Given the description of an element on the screen output the (x, y) to click on. 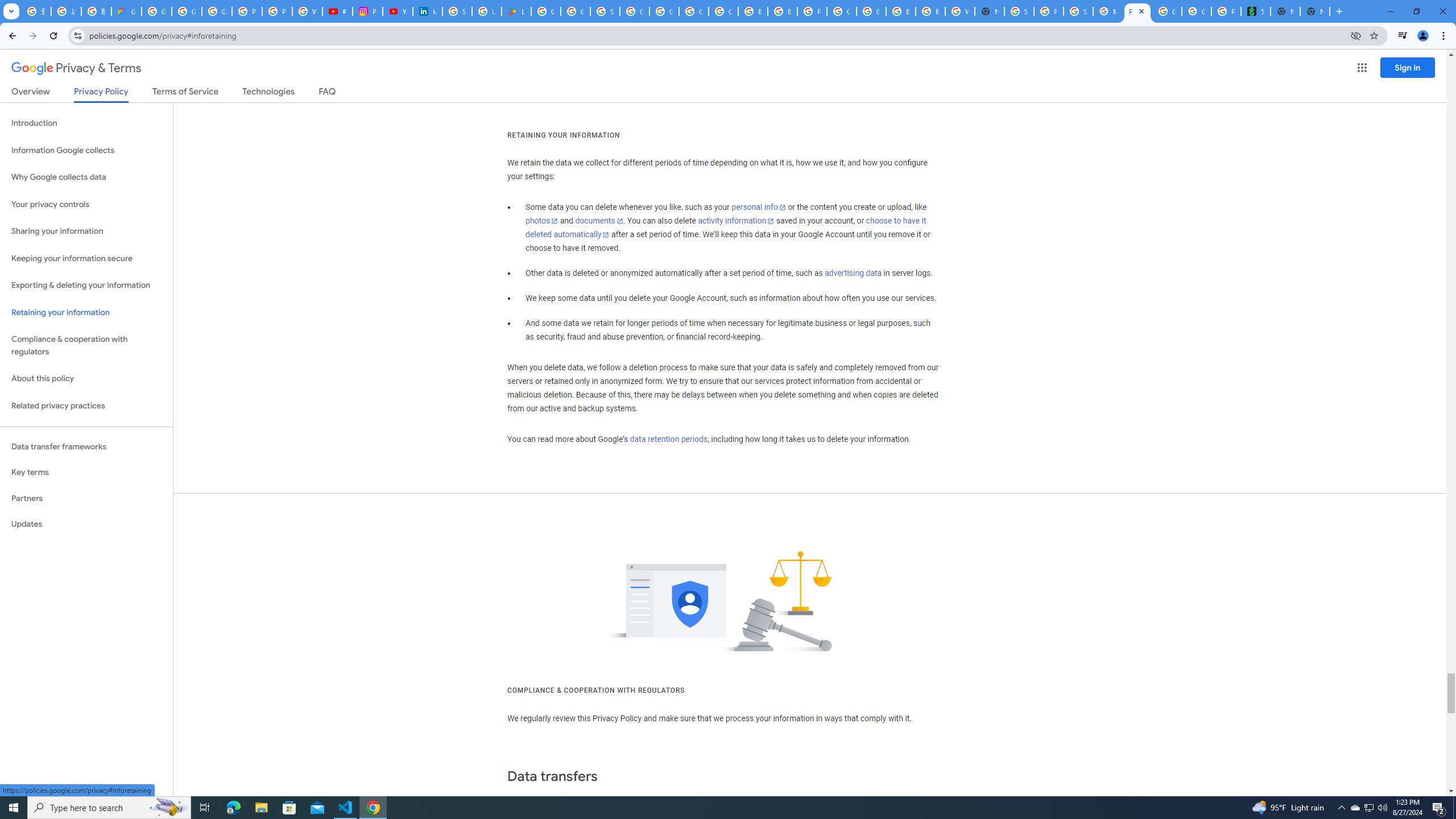
Why Google collects data (86, 176)
YouTube Culture & Trends - On The Rise: Handcam Videos (397, 11)
Exporting & deleting your information (86, 284)
Google Cloud Platform (841, 11)
Related privacy practices (86, 405)
Last Shelter: Survival - Apps on Google Play (515, 11)
advertising data (852, 273)
Sign in - Google Accounts (1018, 11)
Browse Chrome as a guest - Computer - Google Chrome Help (753, 11)
